Given the description of an element on the screen output the (x, y) to click on. 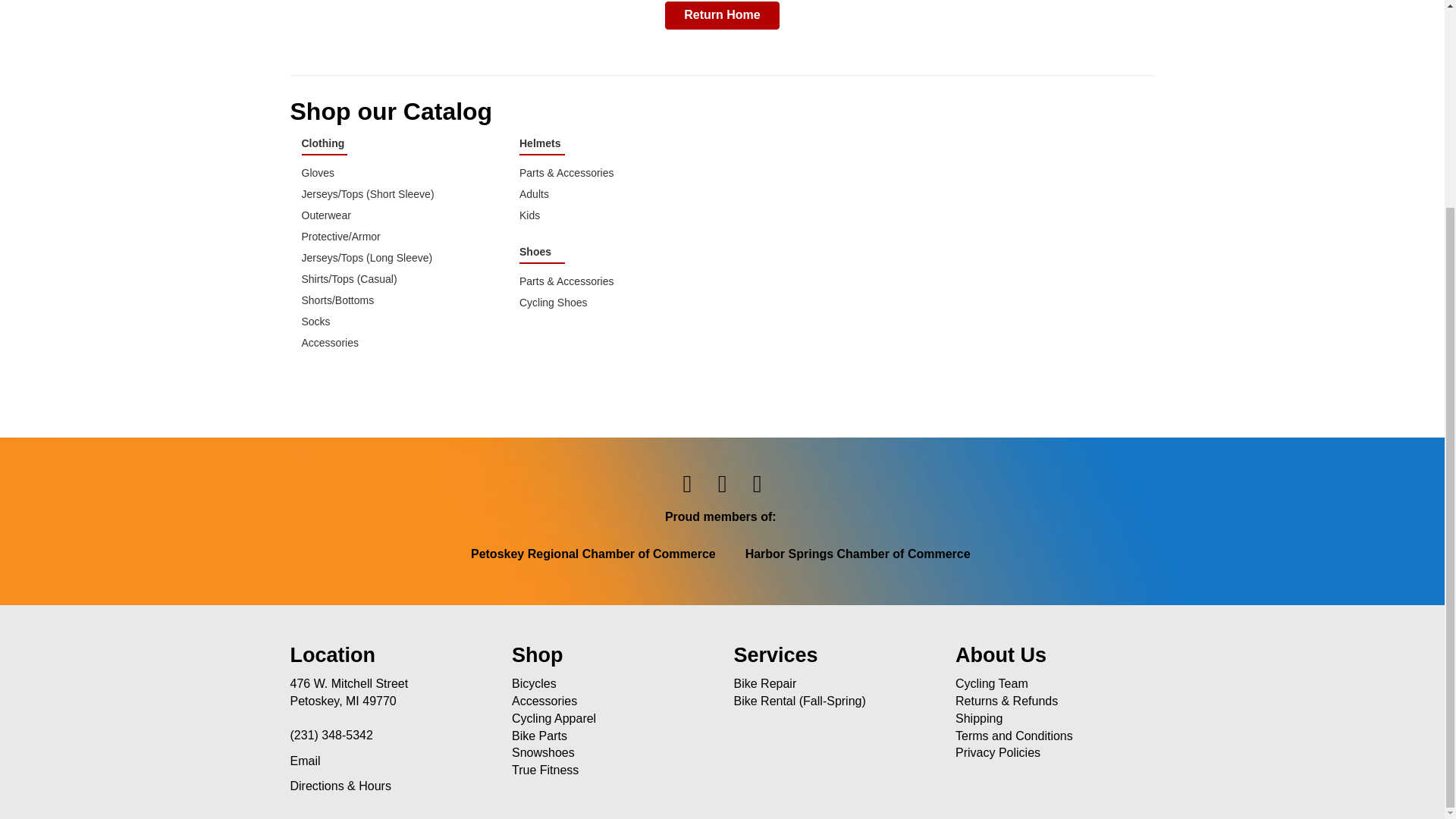
Return Home (721, 15)
